Given the description of an element on the screen output the (x, y) to click on. 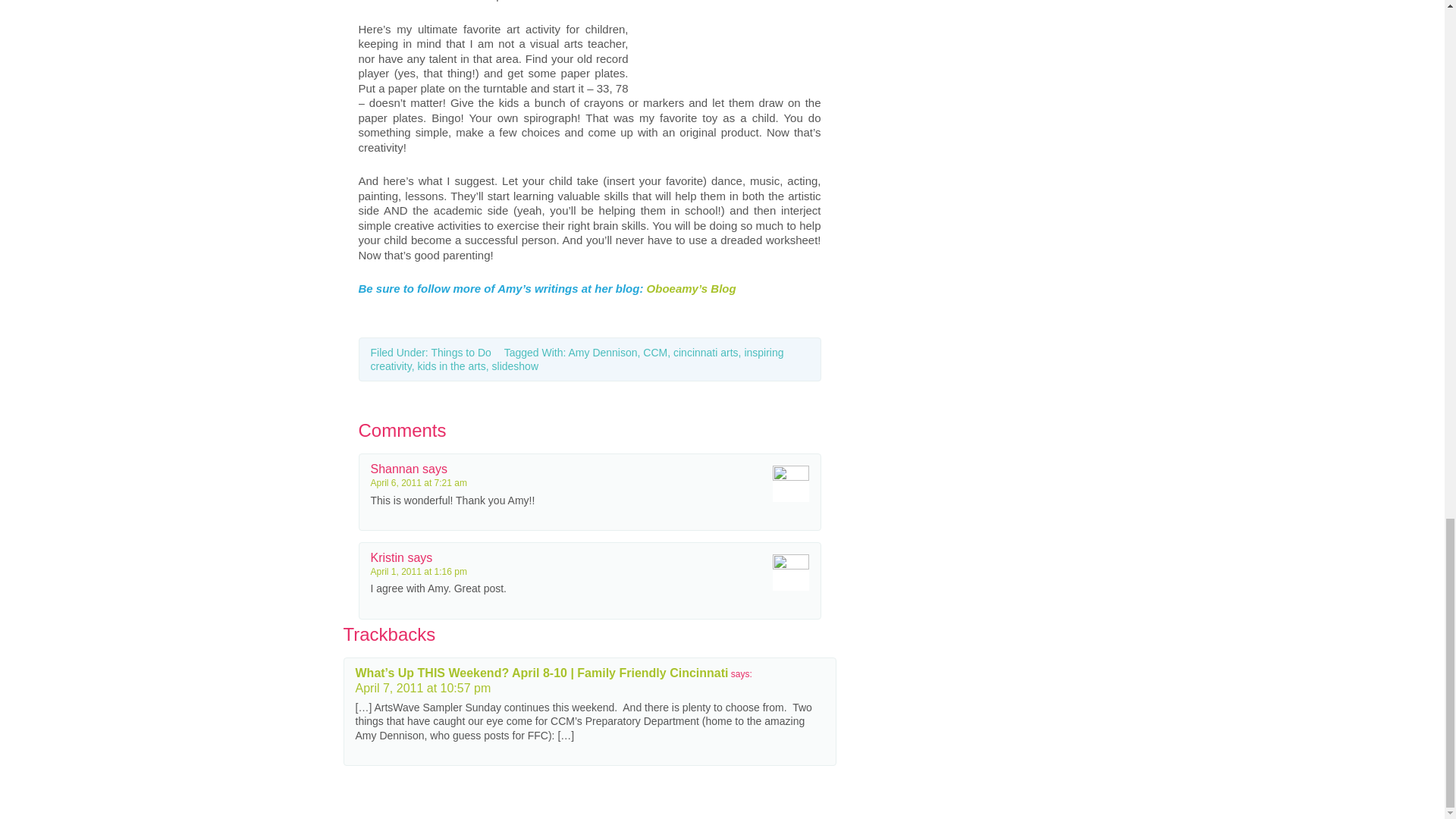
olivia (730, 38)
cincinnati arts (705, 352)
Amy Dennison (603, 352)
CCM (654, 352)
Things to Do (460, 352)
